Given the description of an element on the screen output the (x, y) to click on. 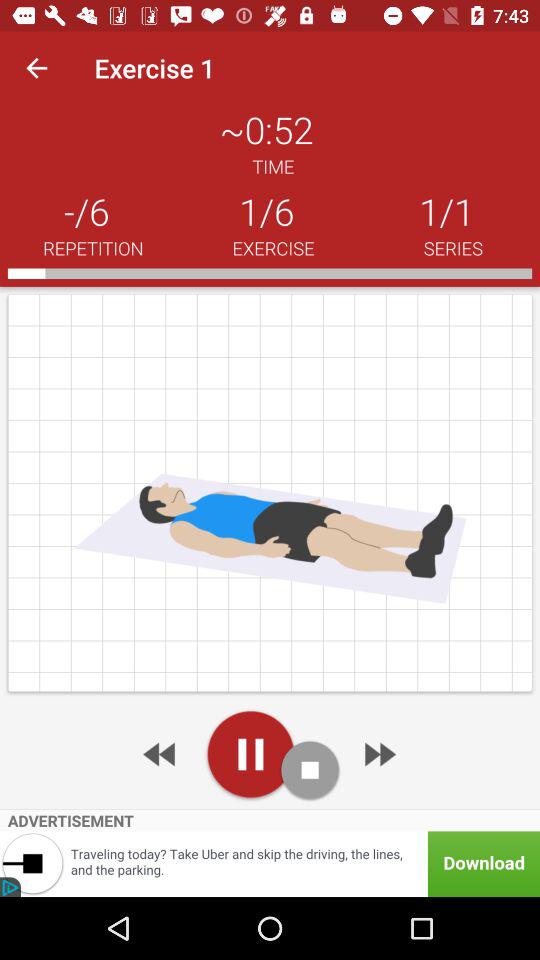
go next (378, 754)
